Given the description of an element on the screen output the (x, y) to click on. 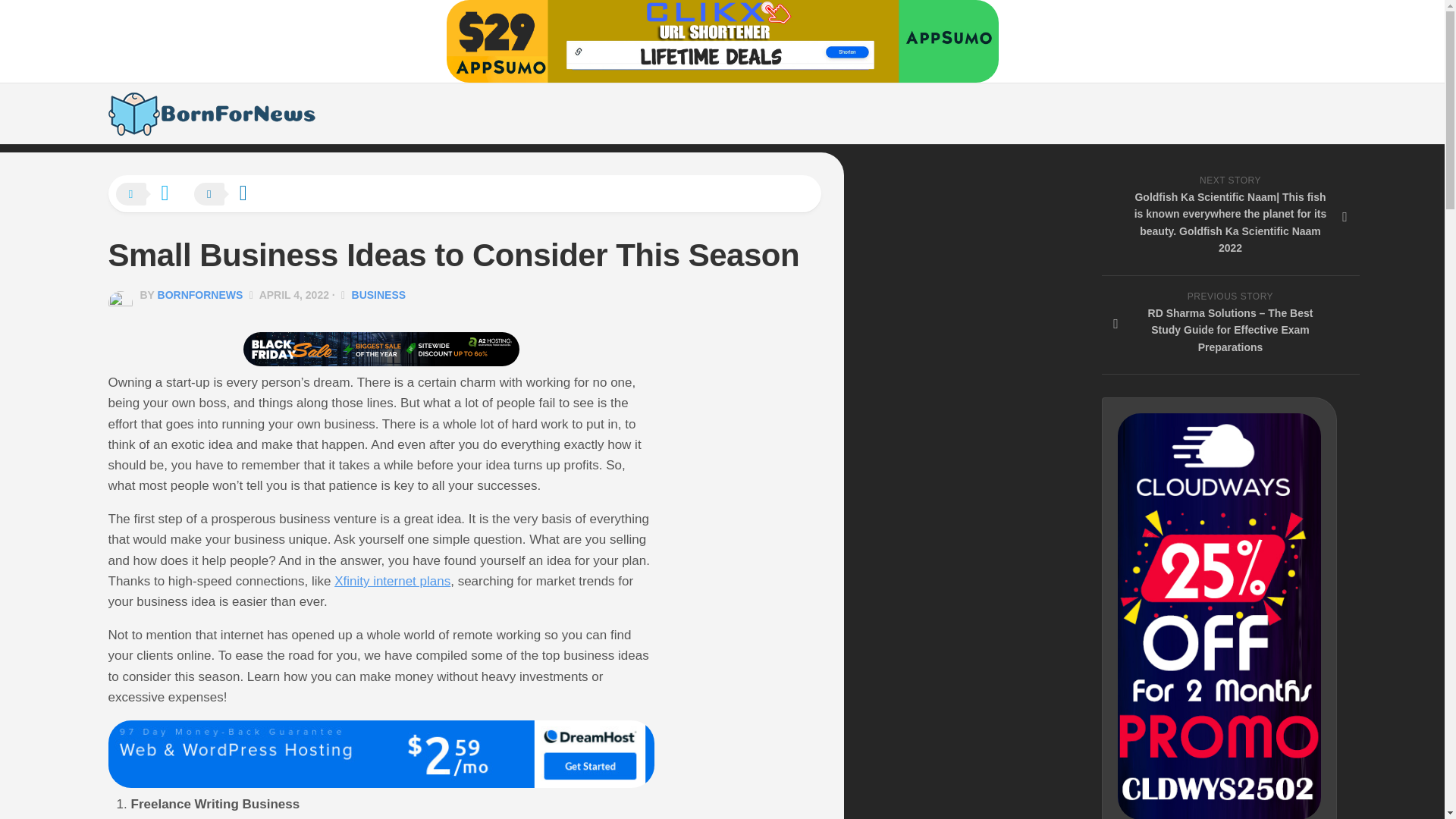
Xfinity internet plans (391, 581)
Posts by bornfornews (200, 295)
BORNFORNEWS (200, 295)
BUSINESS (379, 295)
